Given the description of an element on the screen output the (x, y) to click on. 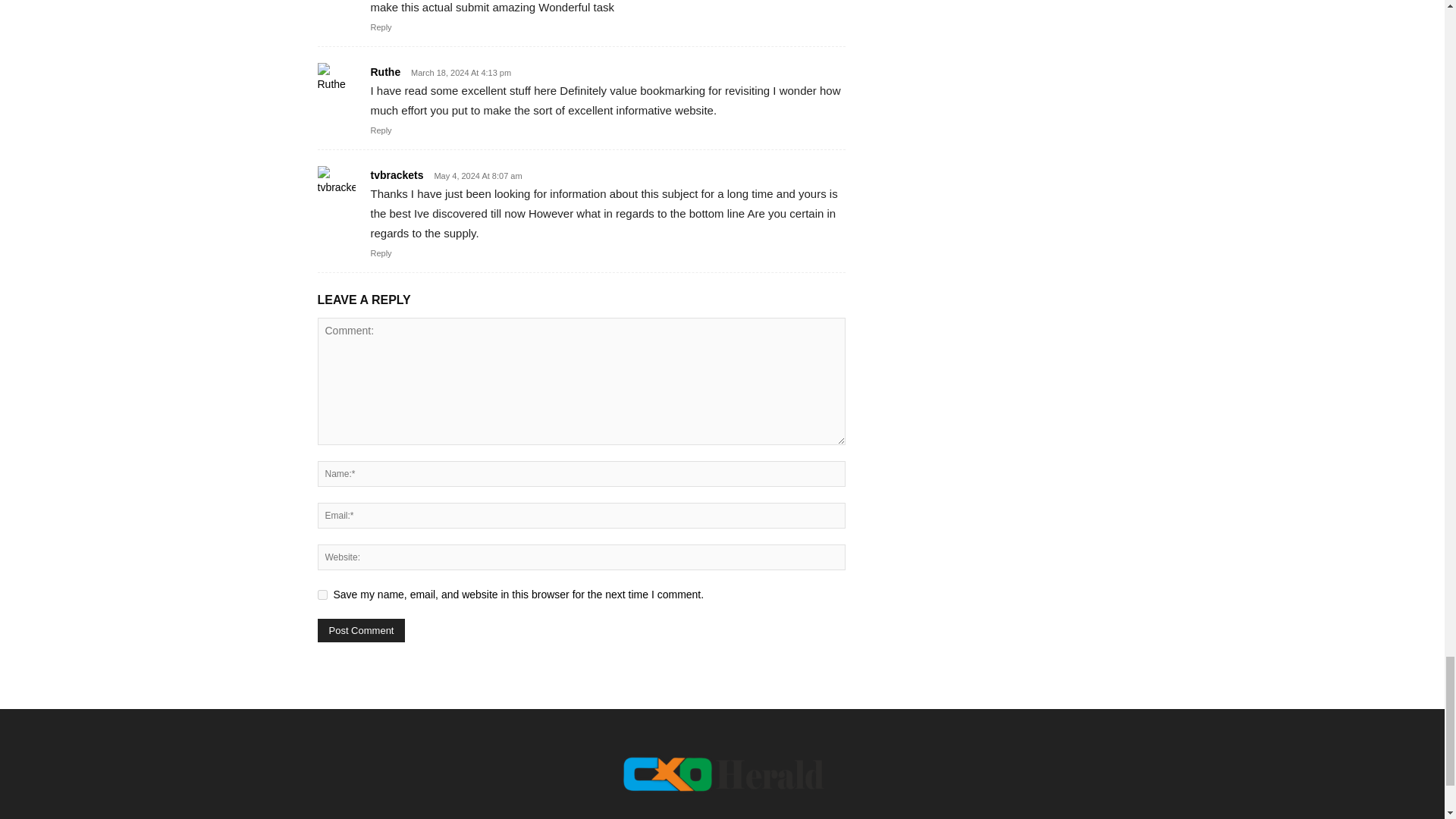
Post Comment (360, 630)
yes (321, 594)
